Given the description of an element on the screen output the (x, y) to click on. 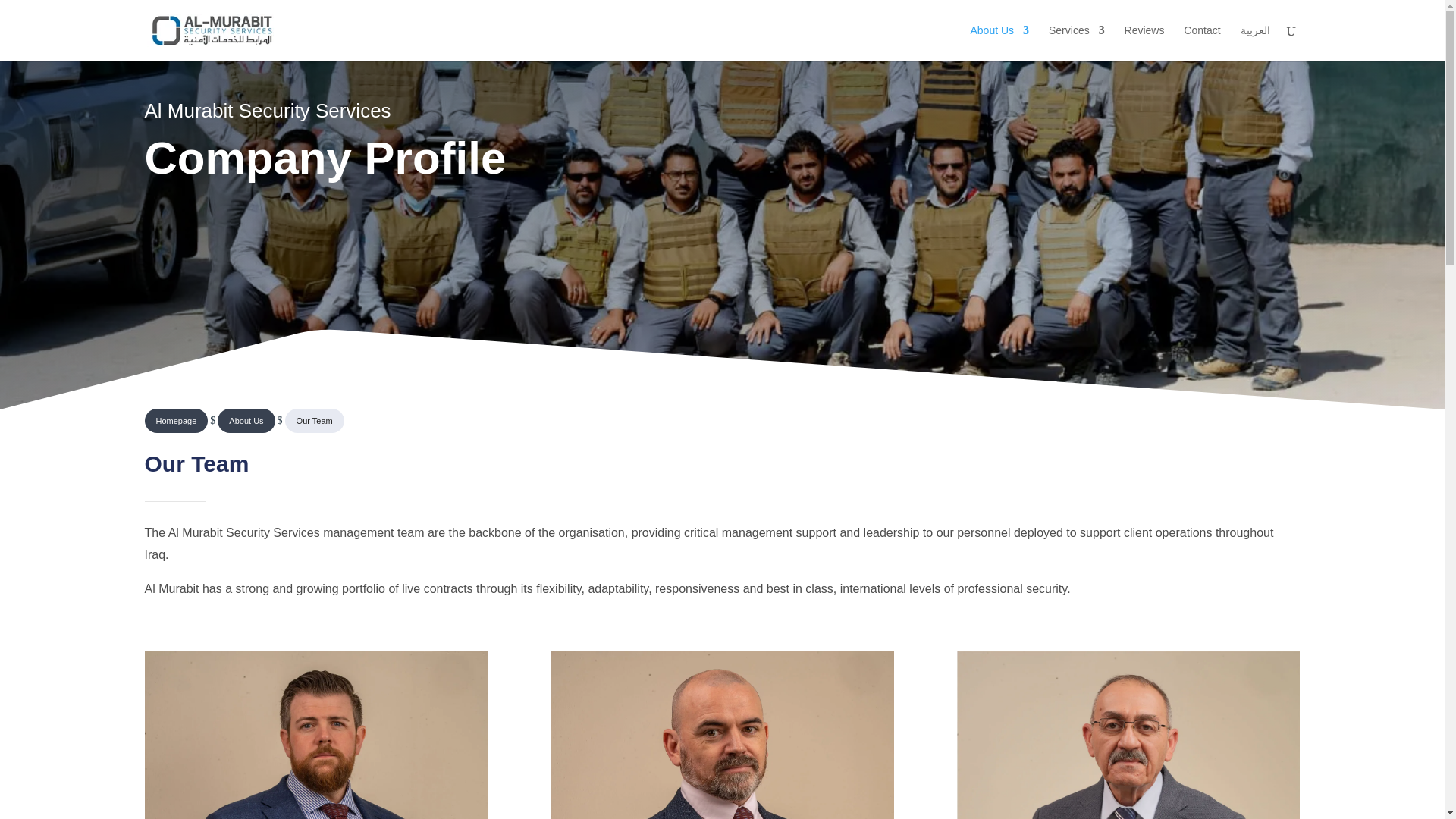
Services (1076, 40)
About Us (245, 420)
About Us (1000, 40)
Contact (1201, 40)
Homepage (176, 420)
Reviews (1144, 40)
